Given the description of an element on the screen output the (x, y) to click on. 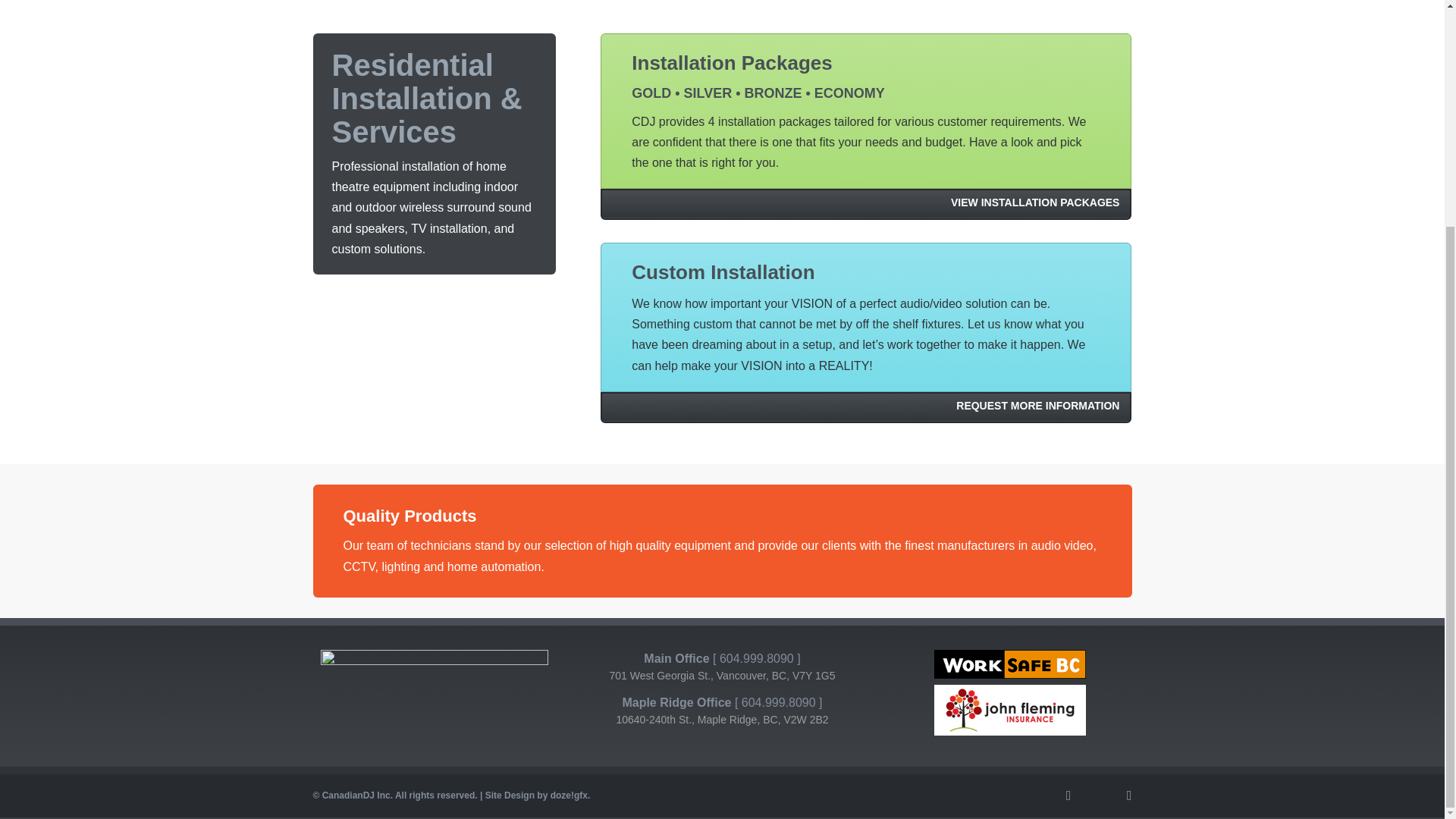
REQUEST MORE INFORMATION (865, 407)
VIEW INSTALLATION PACKAGES (865, 204)
doze!gfx (569, 795)
